Given the description of an element on the screen output the (x, y) to click on. 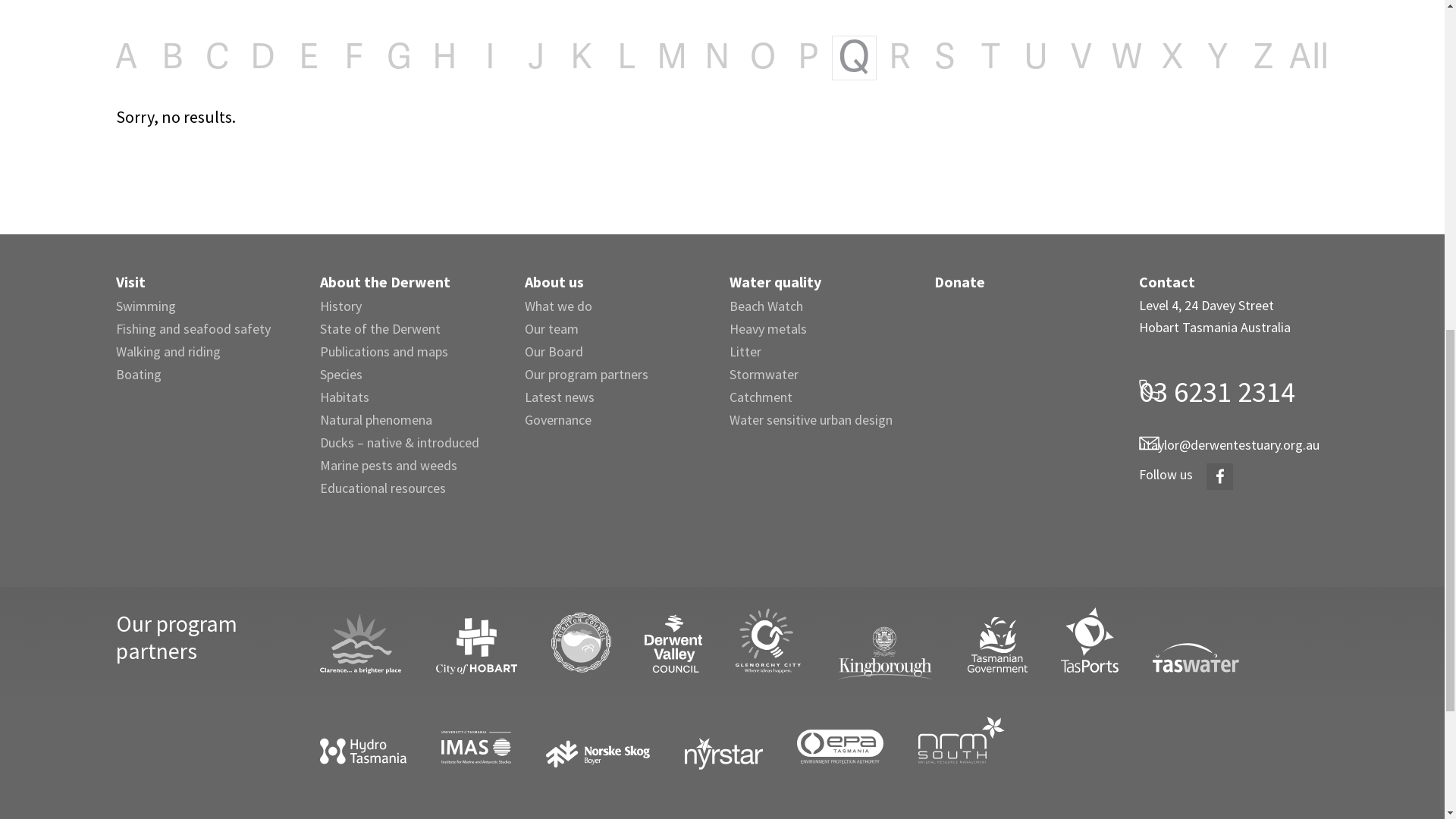
L Element type: text (626, 743)
T Element type: text (990, 743)
Contact Element type: text (1235, 80)
About us Element type: text (862, 80)
Facebook Element type: text (1428, 80)
Donate Element type: text (1125, 80)
black swans Element type: text (259, 560)
O Element type: text (762, 743)
Water quality Element type: text (996, 80)
Little penguins Element type: text (722, 528)
S Element type: text (944, 743)
About the Derwent Element type: text (1236, 459)
A Element type: text (126, 743)
Habitat type Element type: text (1022, 593)
G Element type: text (398, 743)
Visit Element type: text (570, 80)
Y Element type: text (1217, 743)
All Element type: text (1308, 743)
E Element type: text (307, 743)
D Element type: text (262, 743)
M Element type: text (671, 743)
J Element type: text (535, 743)
U Element type: text (1035, 743)
X Element type: text (1171, 743)
Z Element type: text (1262, 743)
Home Element type: text (1168, 459)
N Element type: text (717, 743)
platypus Element type: text (368, 560)
I Element type: text (489, 743)
V Element type: text (1081, 743)
B Element type: text (171, 743)
Search Element type: text (1320, 80)
W Element type: text (1126, 743)
Community type Element type: text (1034, 571)
H Element type: text (444, 743)
About the Derwent Element type: text (708, 80)
sea dragons Element type: text (475, 544)
P Element type: text (808, 743)
C Element type: text (216, 743)
K Element type: text (580, 743)
R Element type: text (899, 743)
F Element type: text (353, 743)
Q Element type: text (853, 743)
